Given the description of an element on the screen output the (x, y) to click on. 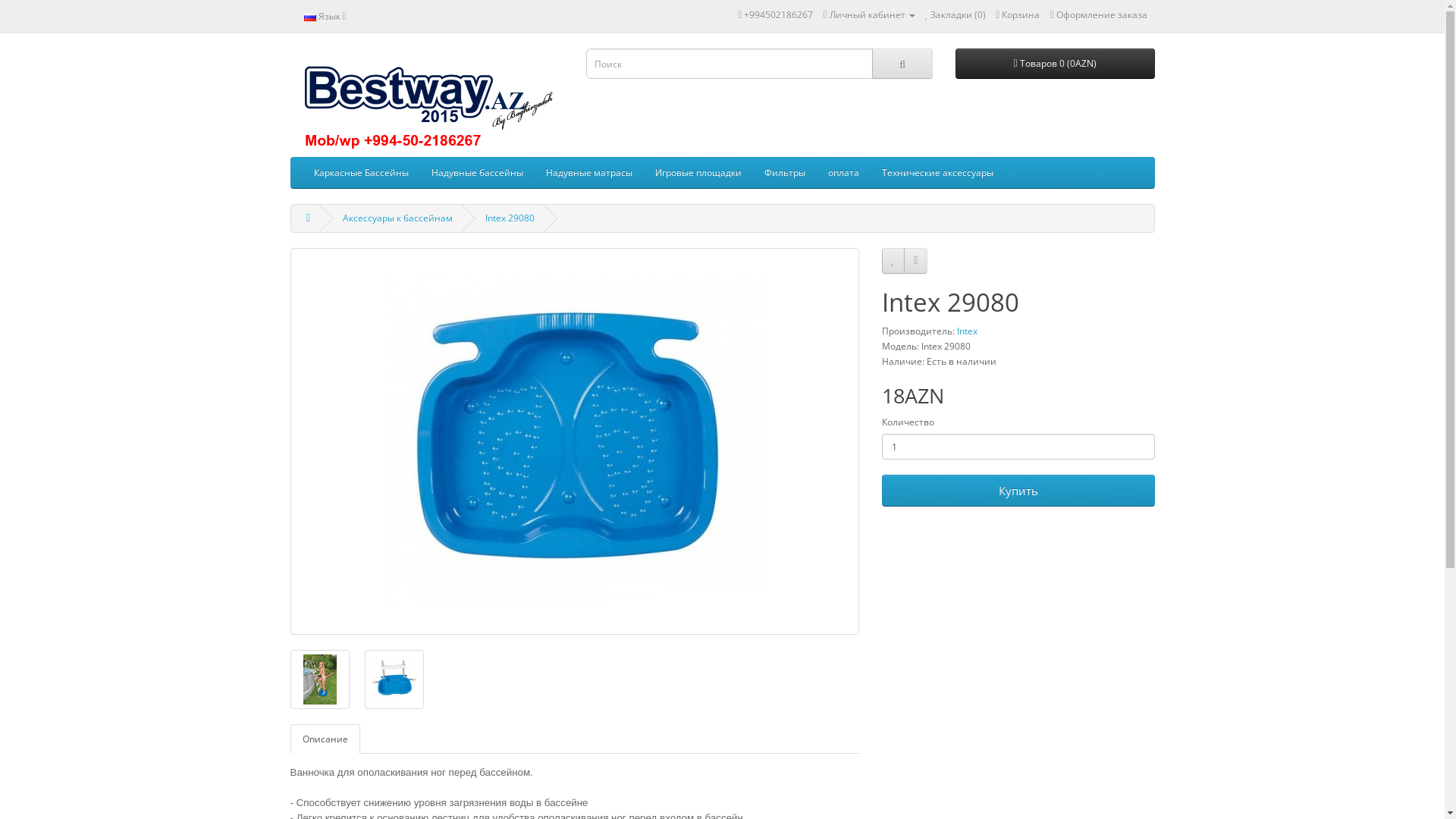
Intex 29080 Element type: hover (574, 440)
Russian Element type: hover (309, 16)
Intex Element type: text (967, 330)
Intex 29080 Element type: hover (393, 679)
Intex 29080 Element type: text (509, 217)
Intex 29080 Element type: hover (393, 679)
Intex 29080 Element type: hover (318, 679)
Intex 29080 Element type: hover (319, 679)
Intex 29080 Element type: hover (573, 440)
